Given the description of an element on the screen output the (x, y) to click on. 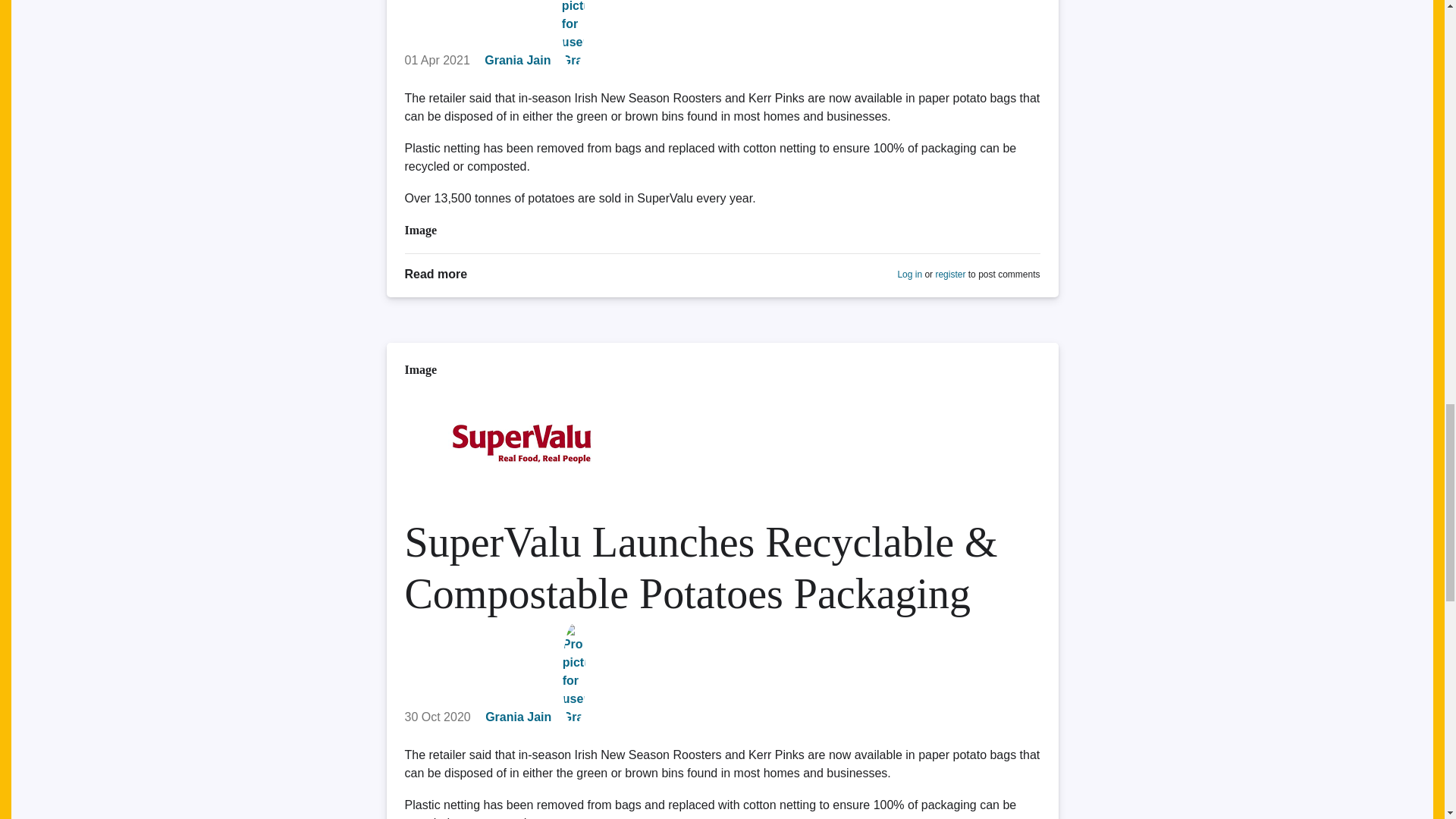
View user profile. (517, 716)
View user profile. (517, 60)
